Given the description of an element on the screen output the (x, y) to click on. 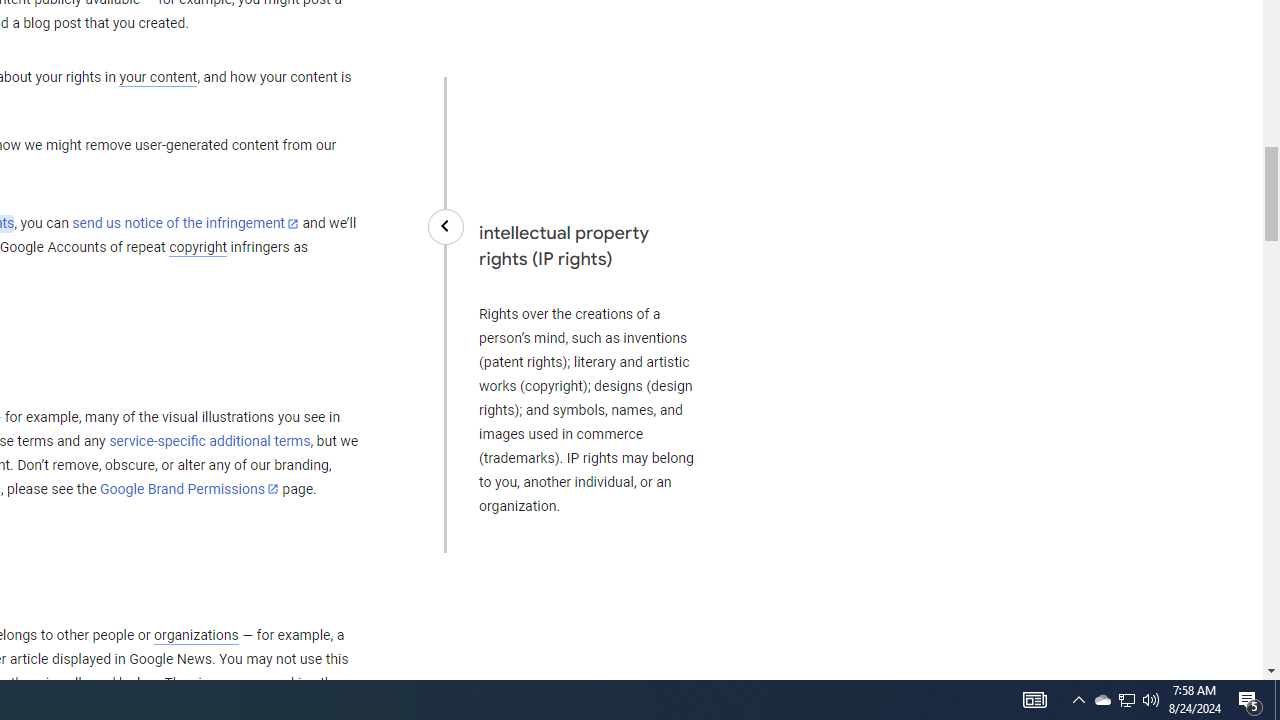
organizations (196, 635)
service-specific additional terms (209, 441)
Google Brand Permissions (189, 489)
send us notice of the infringement (185, 224)
your content (158, 78)
copyright (197, 248)
